Given the description of an element on the screen output the (x, y) to click on. 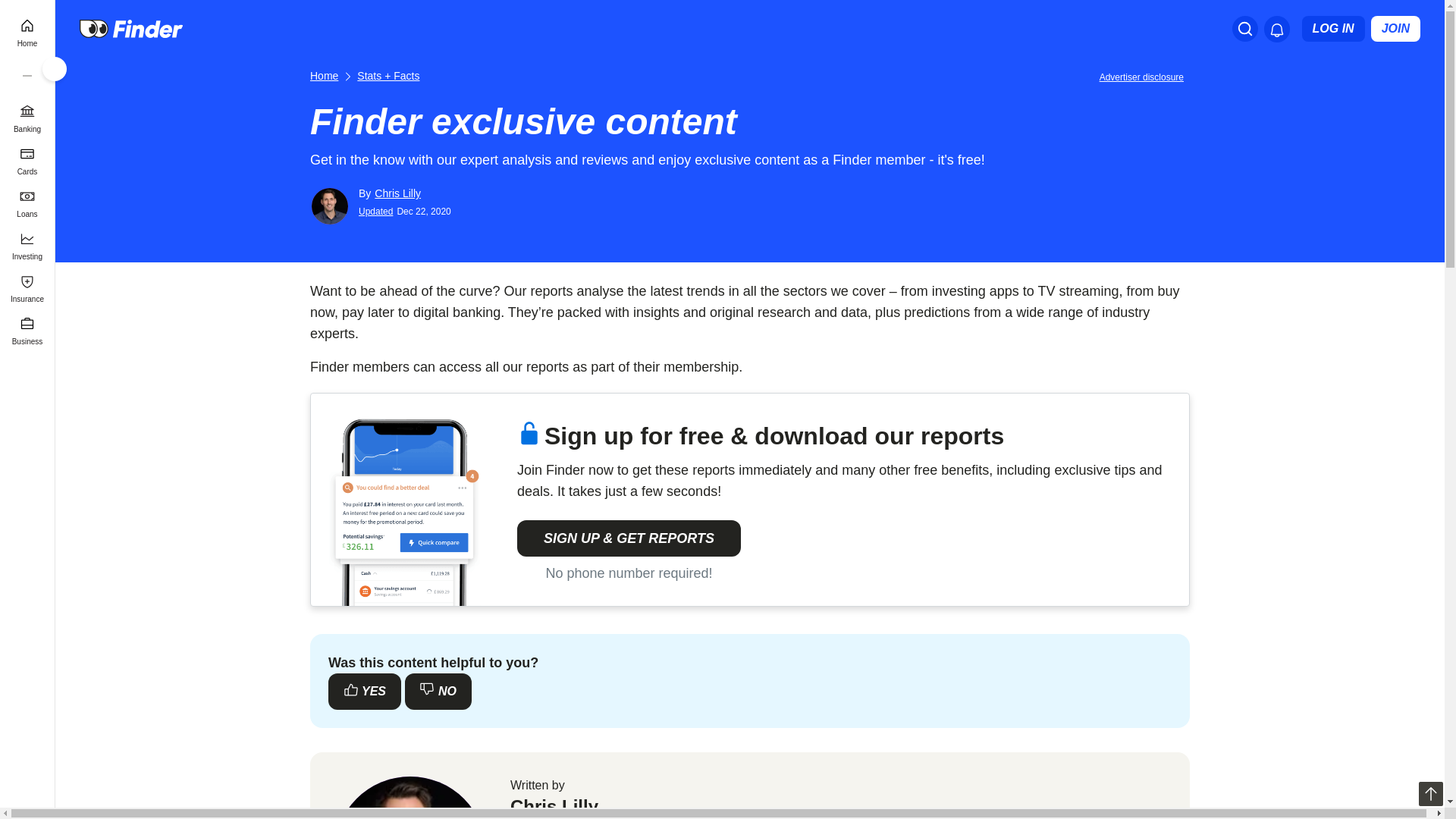
Important information about this website (1144, 76)
Back to Top (1430, 793)
